Given the description of an element on the screen output the (x, y) to click on. 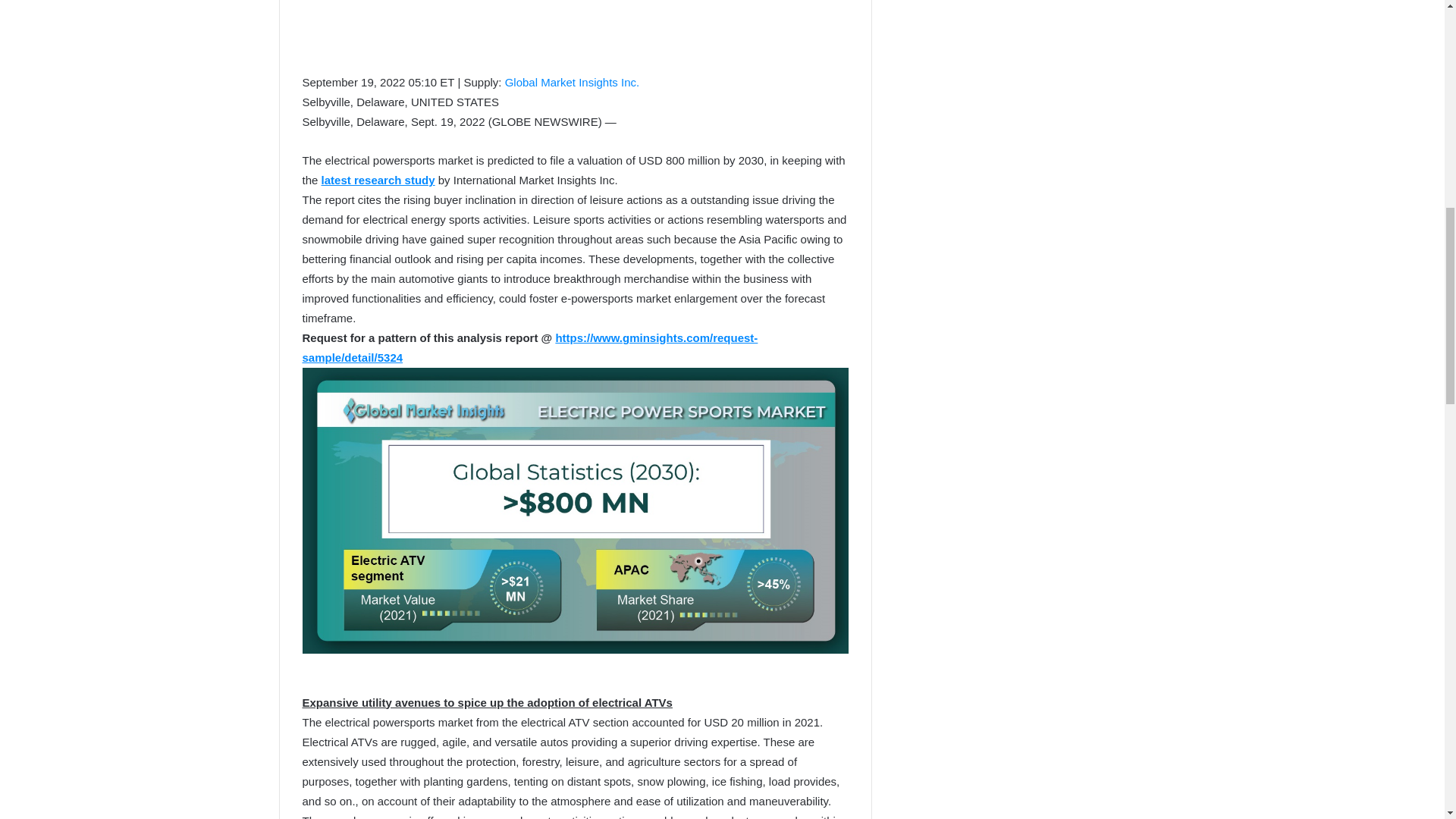
Global Market Insights Inc. (572, 82)
latest research study (378, 179)
